Given the description of an element on the screen output the (x, y) to click on. 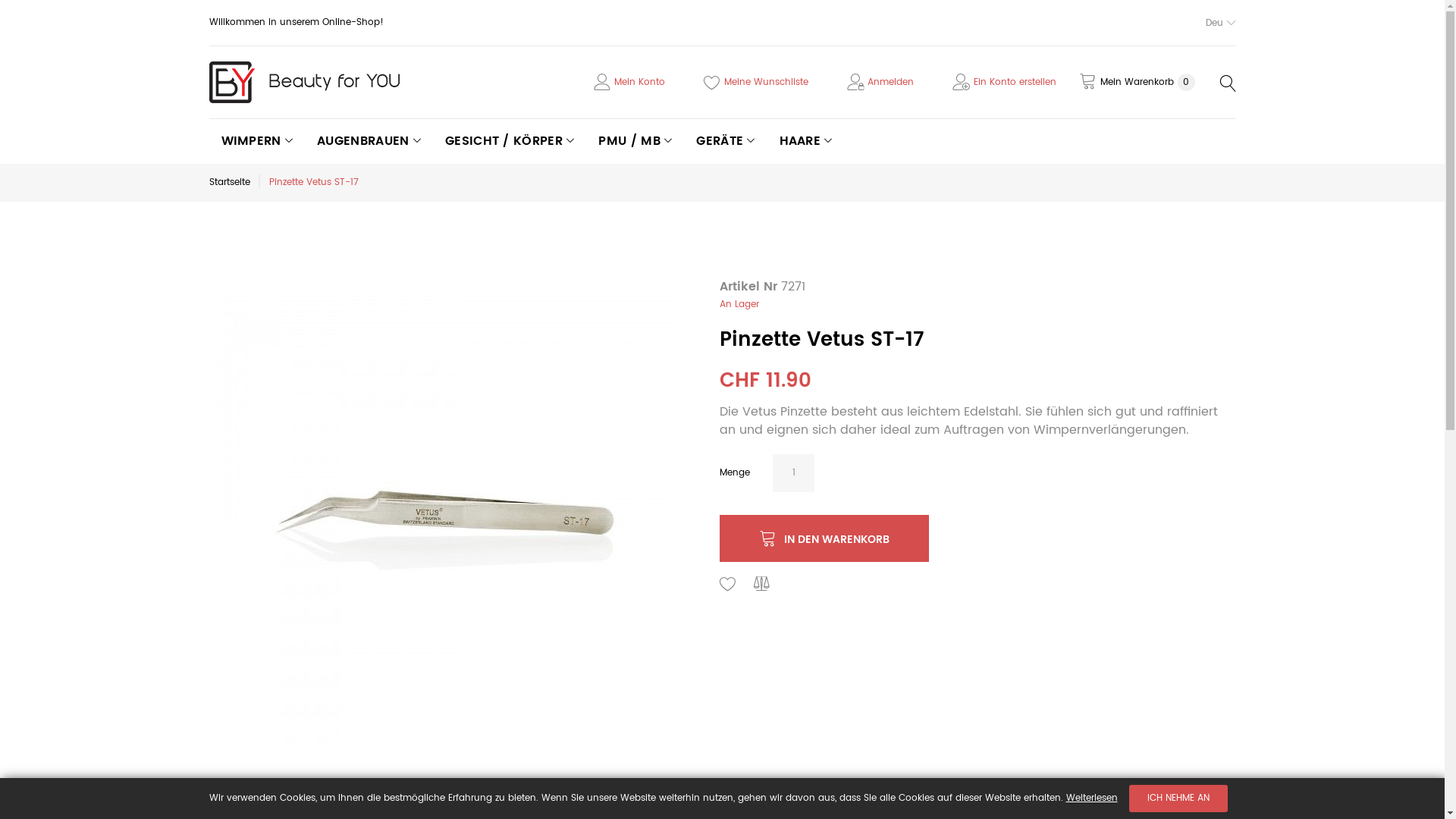
PMU / MB Element type: text (634, 140)
Mein Warenkorb 0 Element type: text (1136, 82)
Beauty-For-You Element type: hover (304, 82)
Menge Element type: hover (793, 473)
Anmelden Element type: text (890, 82)
Ein Konto erstellen Element type: text (1014, 82)
Weiterlesen Element type: text (1091, 797)
ICH NEHME AN Element type: text (1177, 798)
IN DEN WARENKORB Element type: text (823, 537)
HAARE Element type: text (805, 140)
Meine Wunschliste Element type: text (765, 82)
AUGENBRAUEN Element type: text (368, 140)
WIMPERN Element type: text (257, 140)
Mein Konto Element type: text (639, 82)
Startseite Element type: text (229, 182)
